Given the description of an element on the screen output the (x, y) to click on. 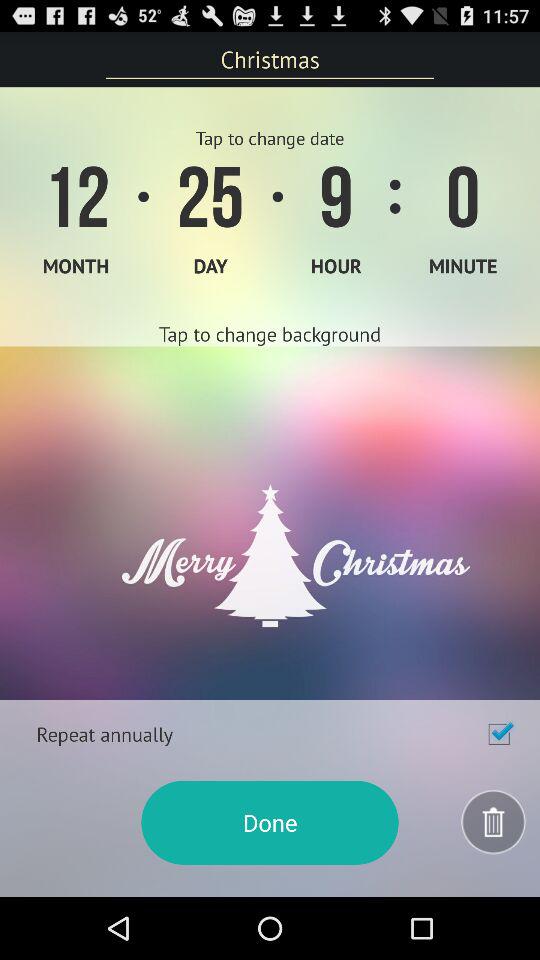
launch item to the right of the repeat annually icon (499, 734)
